Given the description of an element on the screen output the (x, y) to click on. 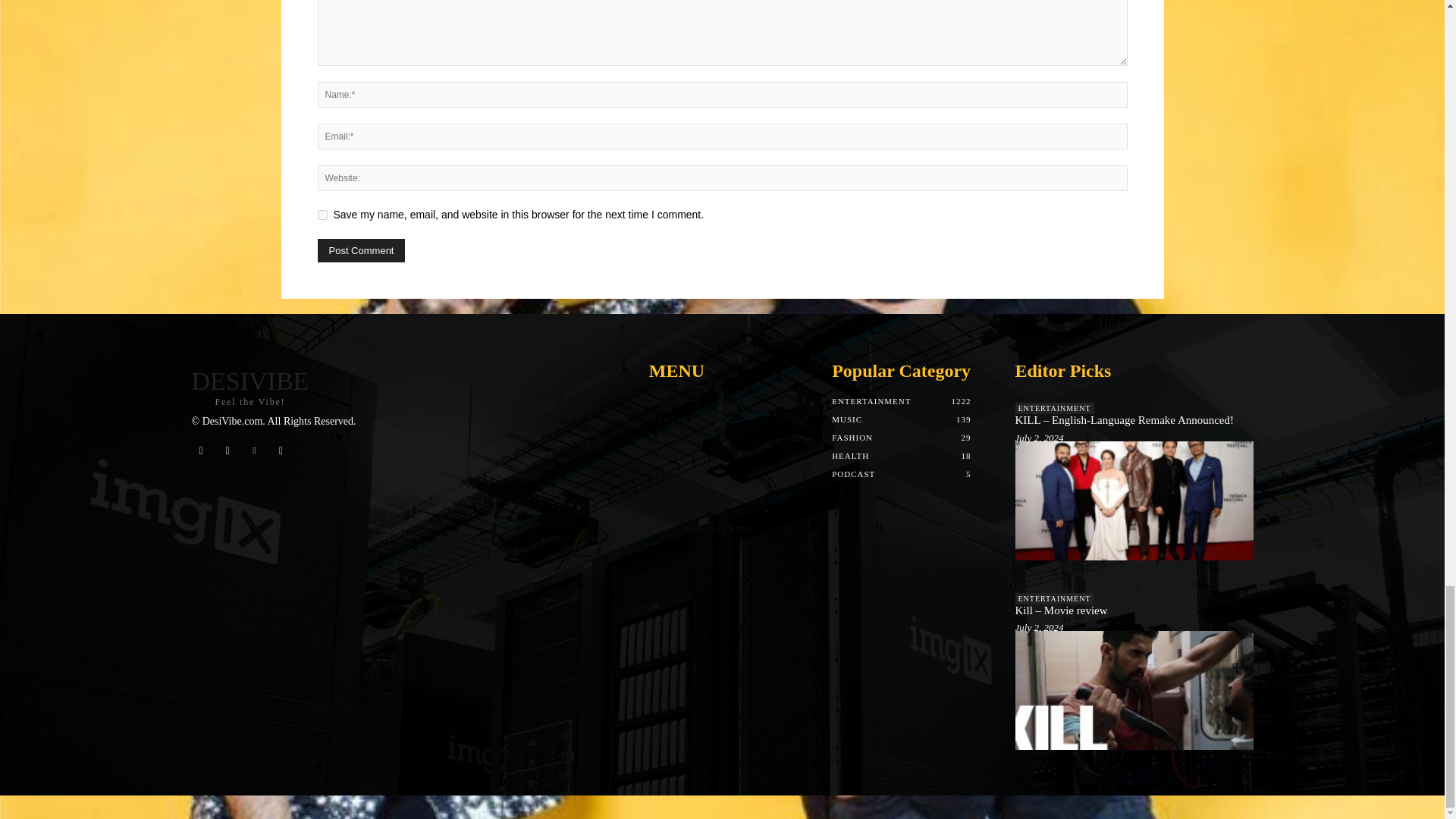
Post Comment (360, 250)
yes (321, 214)
